Given the description of an element on the screen output the (x, y) to click on. 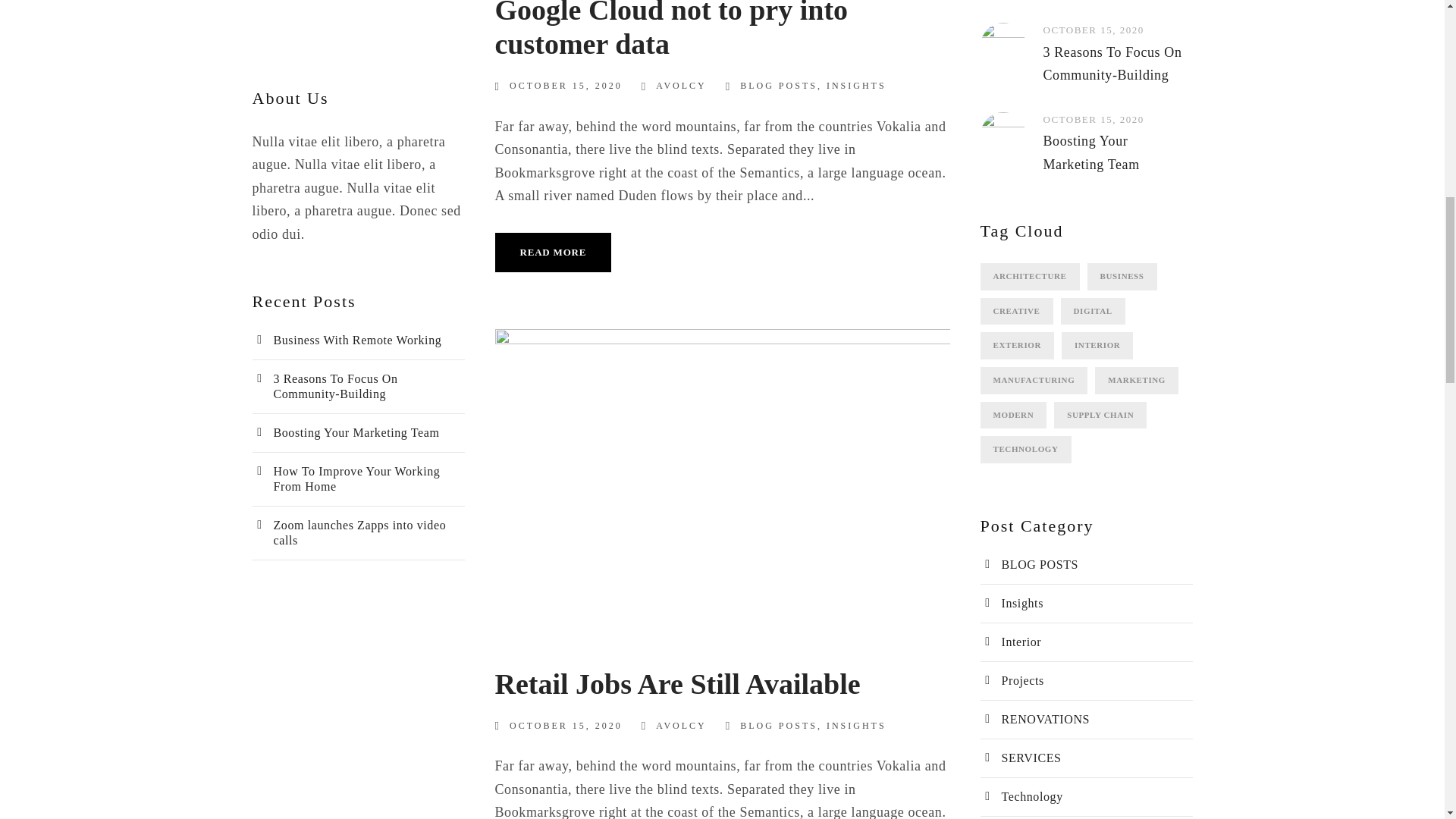
AVOLCY (681, 85)
READ MORE (553, 251)
BLOG POSTS (777, 85)
INSIGHTS (856, 85)
OCTOBER 15, 2020 (566, 85)
AVOLCY (681, 725)
Retail Jobs Are Still Available (677, 684)
BLOG POSTS (777, 725)
OCTOBER 15, 2020 (566, 725)
Google Cloud not to pry into customer data (671, 30)
Posts by avolcy (681, 725)
INSIGHTS (856, 725)
Posts by avolcy (681, 85)
